Given the description of an element on the screen output the (x, y) to click on. 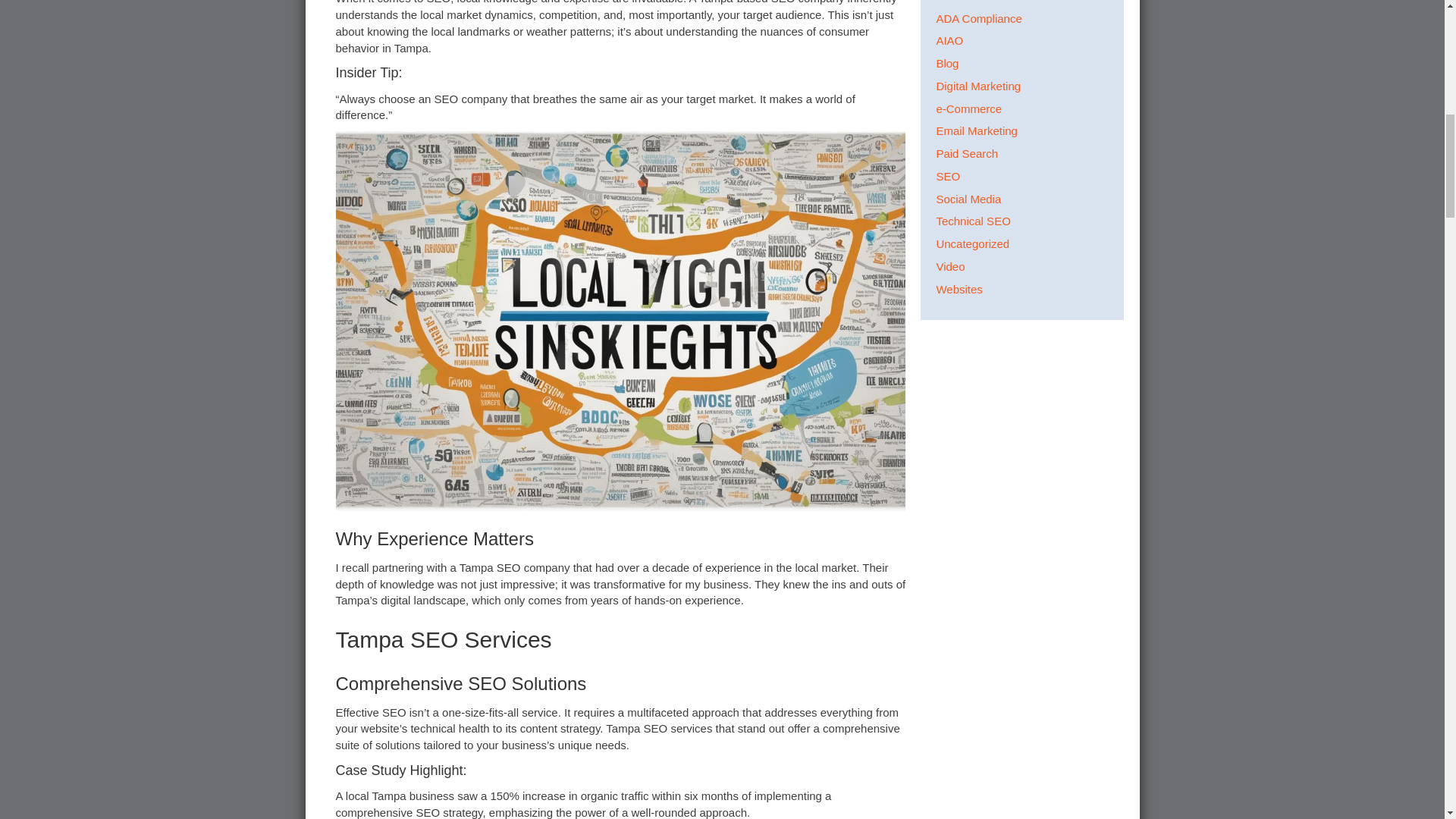
e-Commerce (968, 108)
SEO (947, 175)
Paid Search (966, 153)
Uncategorized (972, 243)
Video (949, 266)
Digital Marketing (978, 85)
ADA Compliance (979, 18)
Social Media (968, 198)
Technical SEO (973, 220)
Websites (958, 288)
Email Marketing (976, 130)
AIAO (949, 40)
Blog (947, 62)
